Given the description of an element on the screen output the (x, y) to click on. 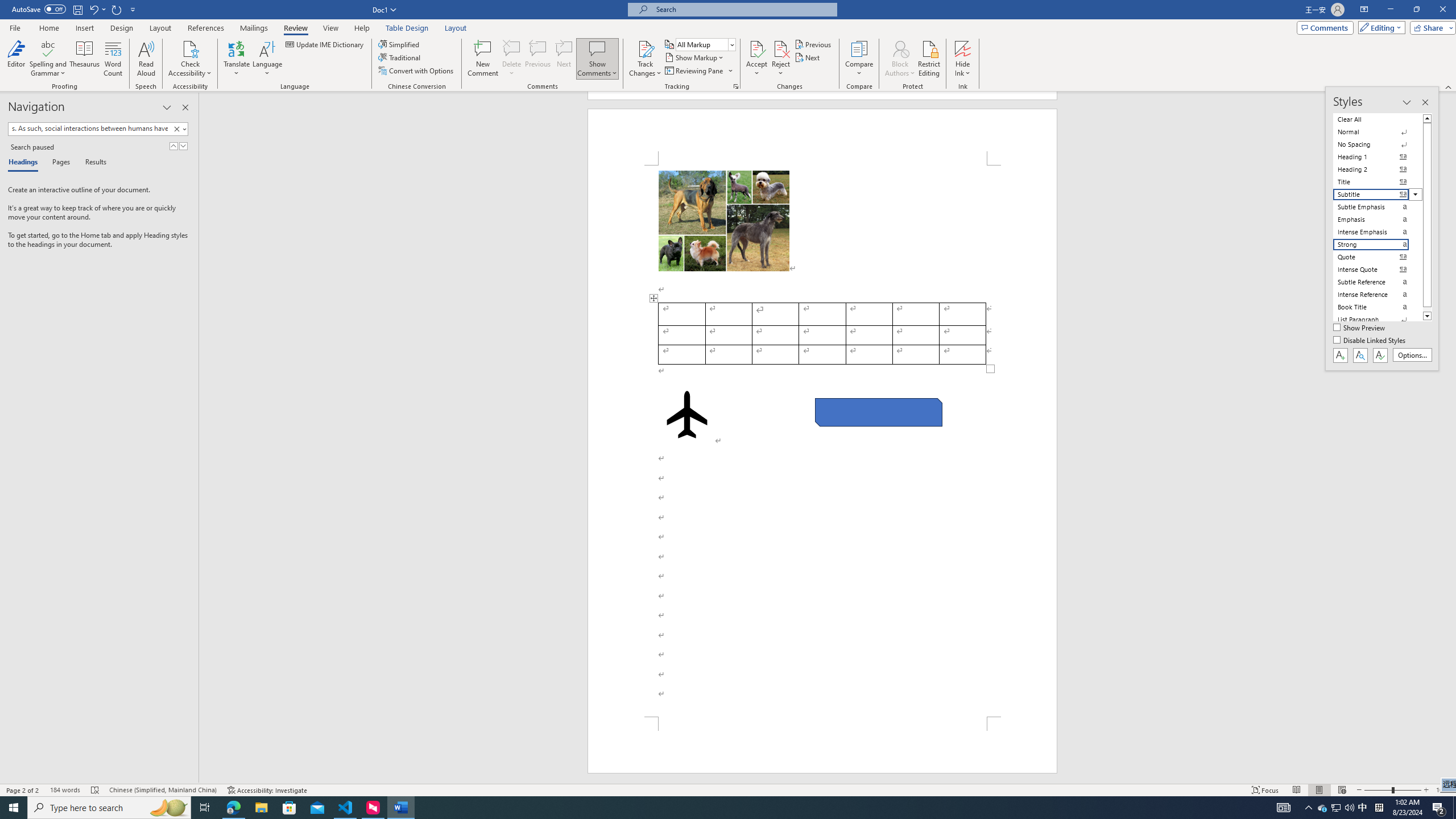
Previous Result (173, 145)
No Spacing (1377, 144)
Change Tracking Options... (735, 85)
